Given the description of an element on the screen output the (x, y) to click on. 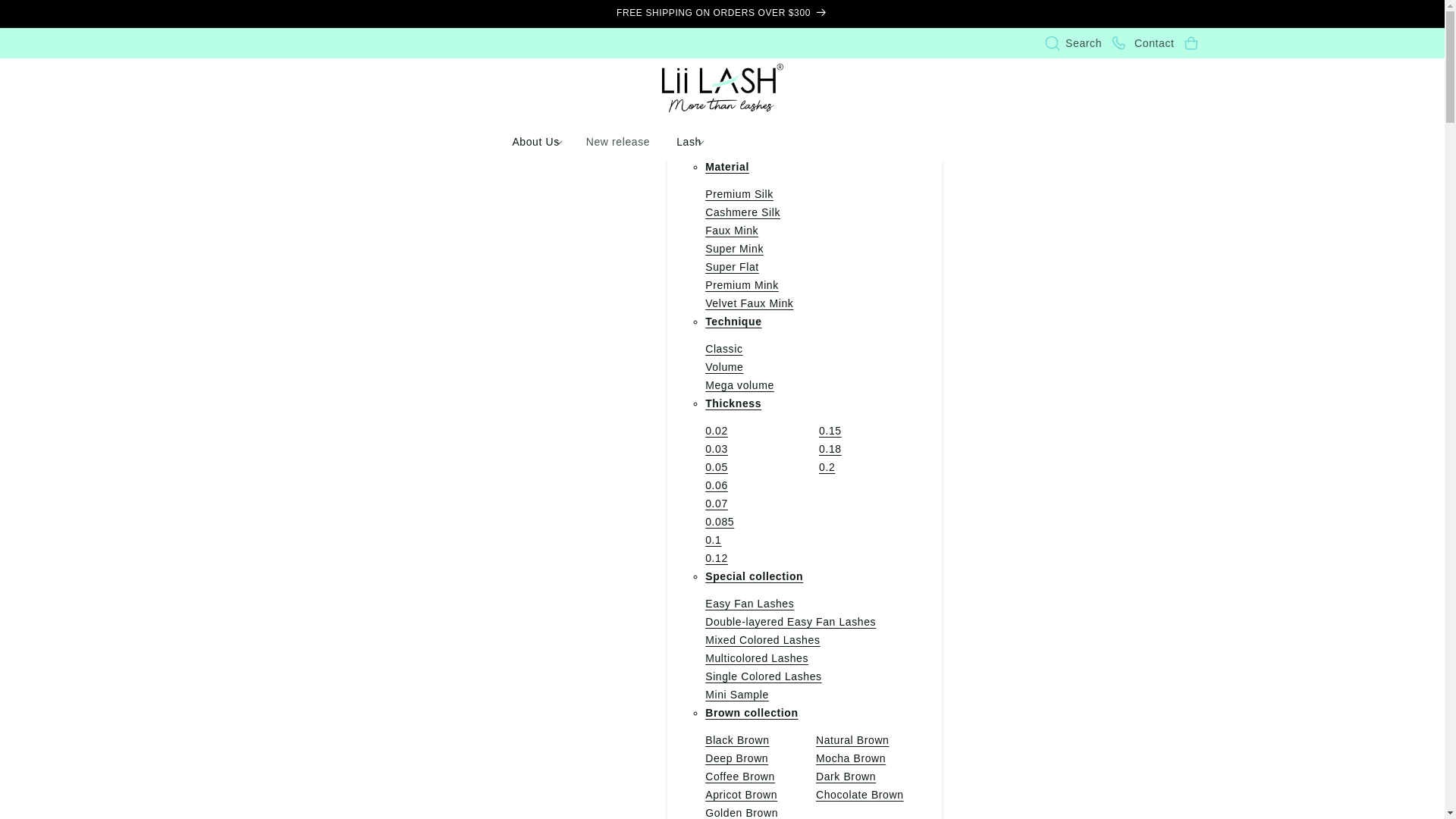
Contact (1141, 43)
Cart (1189, 43)
Skip to content (45, 14)
